Given the description of an element on the screen output the (x, y) to click on. 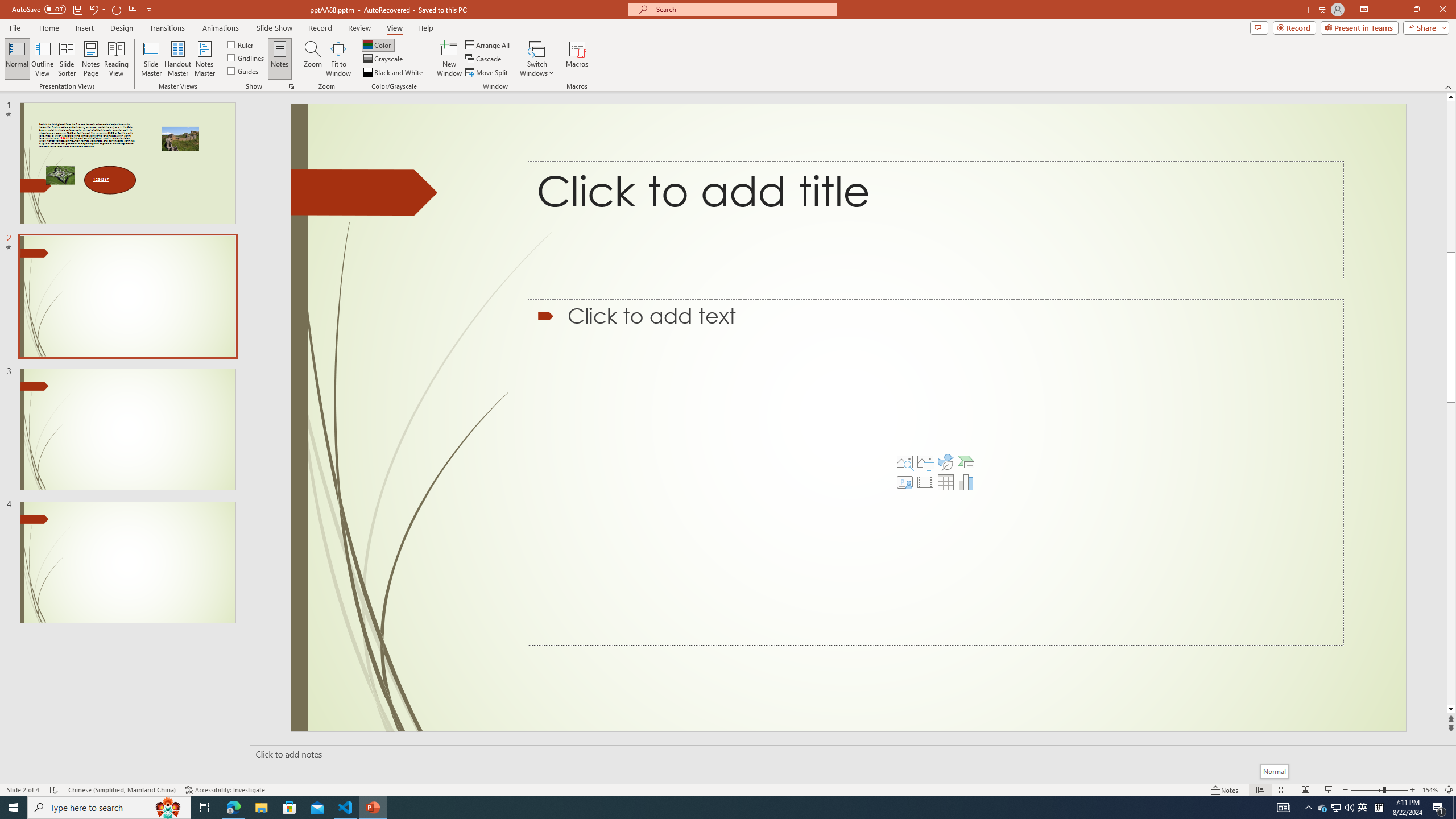
Stock Images (904, 461)
Cascade (484, 58)
Slide Master (151, 58)
Notes Master (204, 58)
Insert Table (945, 482)
